Given the description of an element on the screen output the (x, y) to click on. 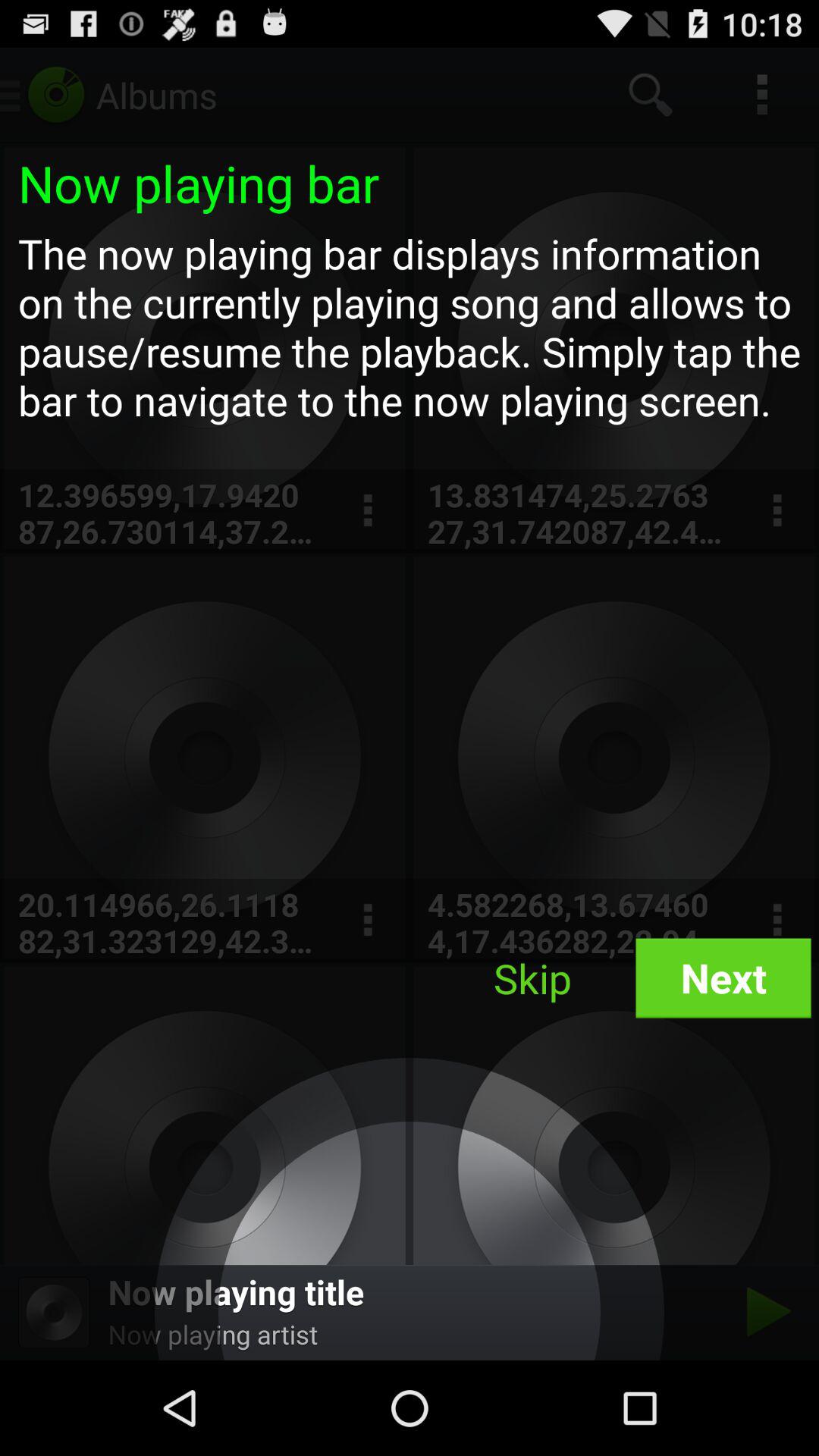
click the option (367, 920)
